Given the description of an element on the screen output the (x, y) to click on. 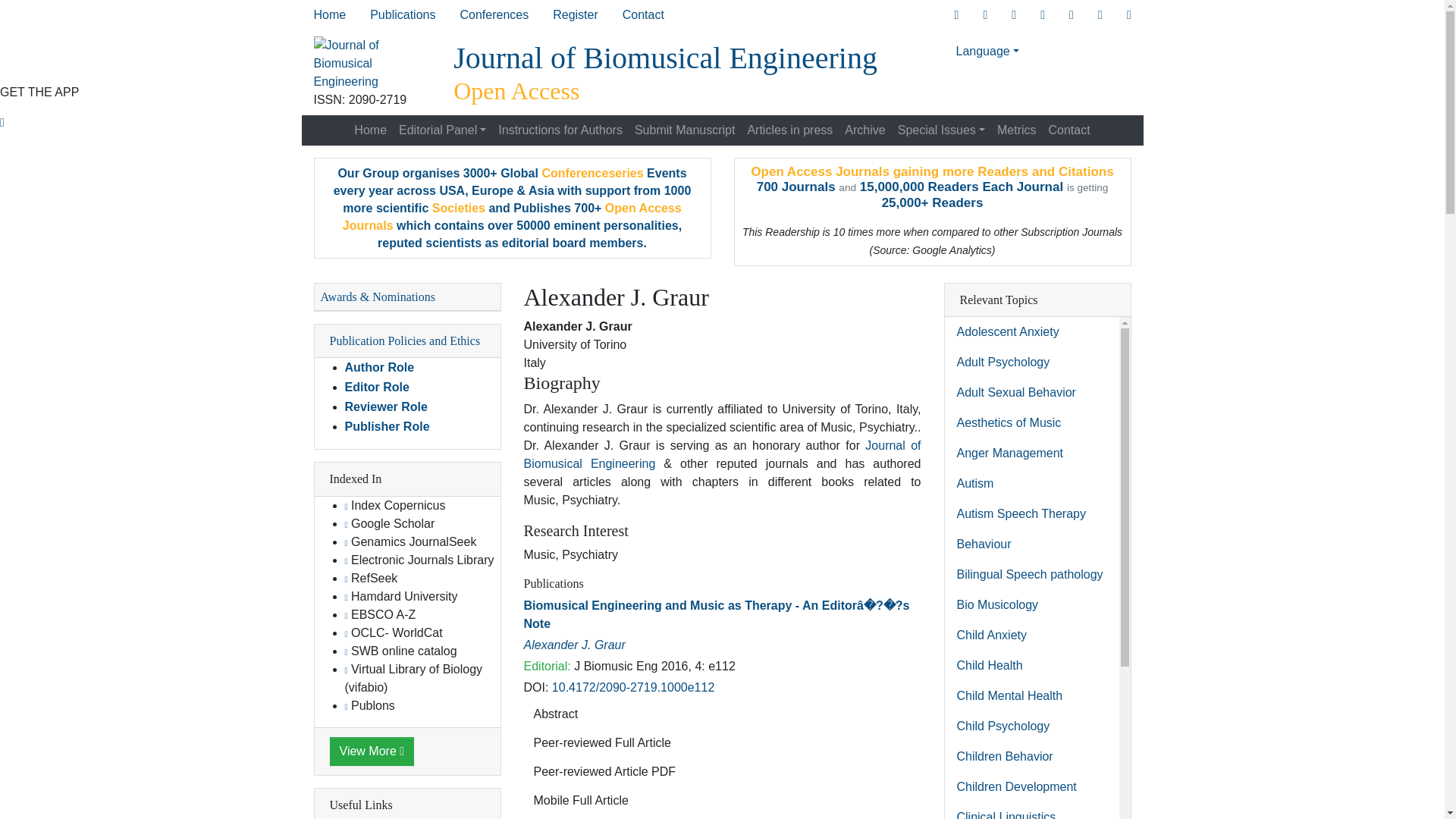
Omics Youtube (1128, 15)
Contact (643, 15)
Publications (402, 15)
Instructions for Authors (560, 130)
OMICS Group Conferences (493, 15)
Click here (956, 15)
Omics Facebook (984, 15)
Omics RSS (1071, 15)
Submit Manuscript (684, 130)
Contact (643, 15)
Conferences (493, 15)
Editorial Panel (442, 130)
Register (575, 15)
Home (370, 130)
Home (329, 15)
